Given the description of an element on the screen output the (x, y) to click on. 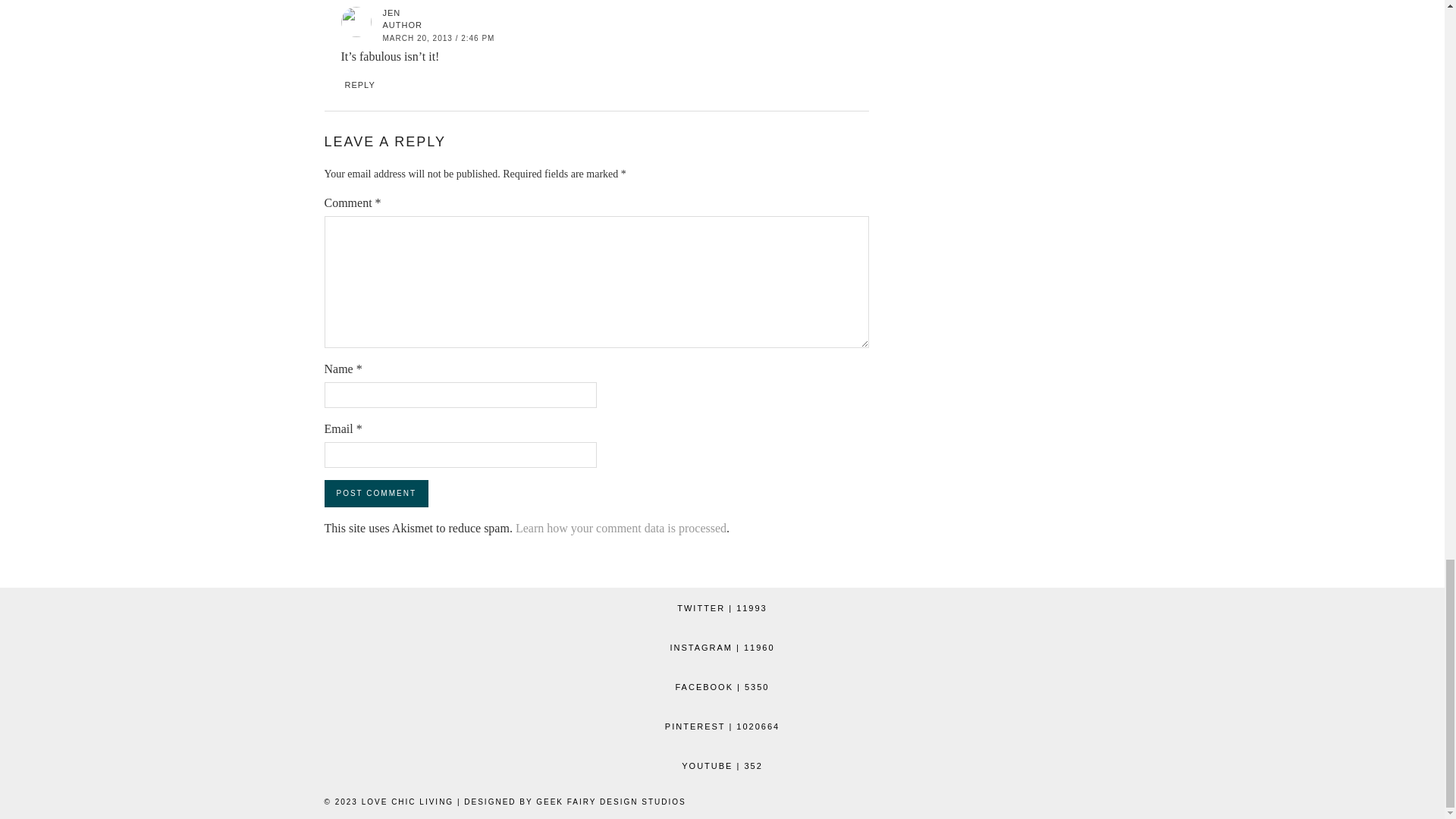
Post Comment (376, 492)
